Given the description of an element on the screen output the (x, y) to click on. 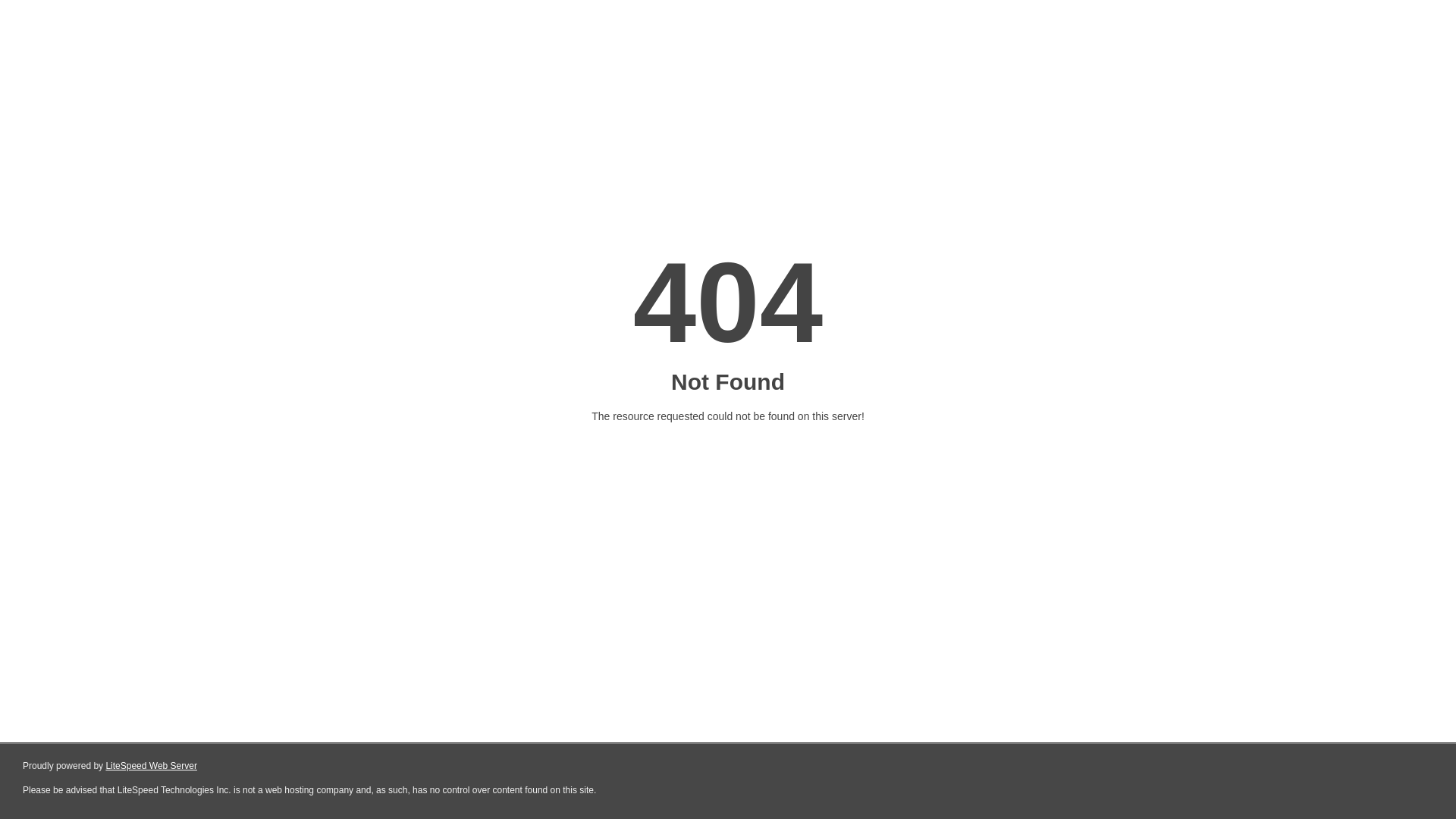
LiteSpeed Web Server Element type: text (151, 765)
